Given the description of an element on the screen output the (x, y) to click on. 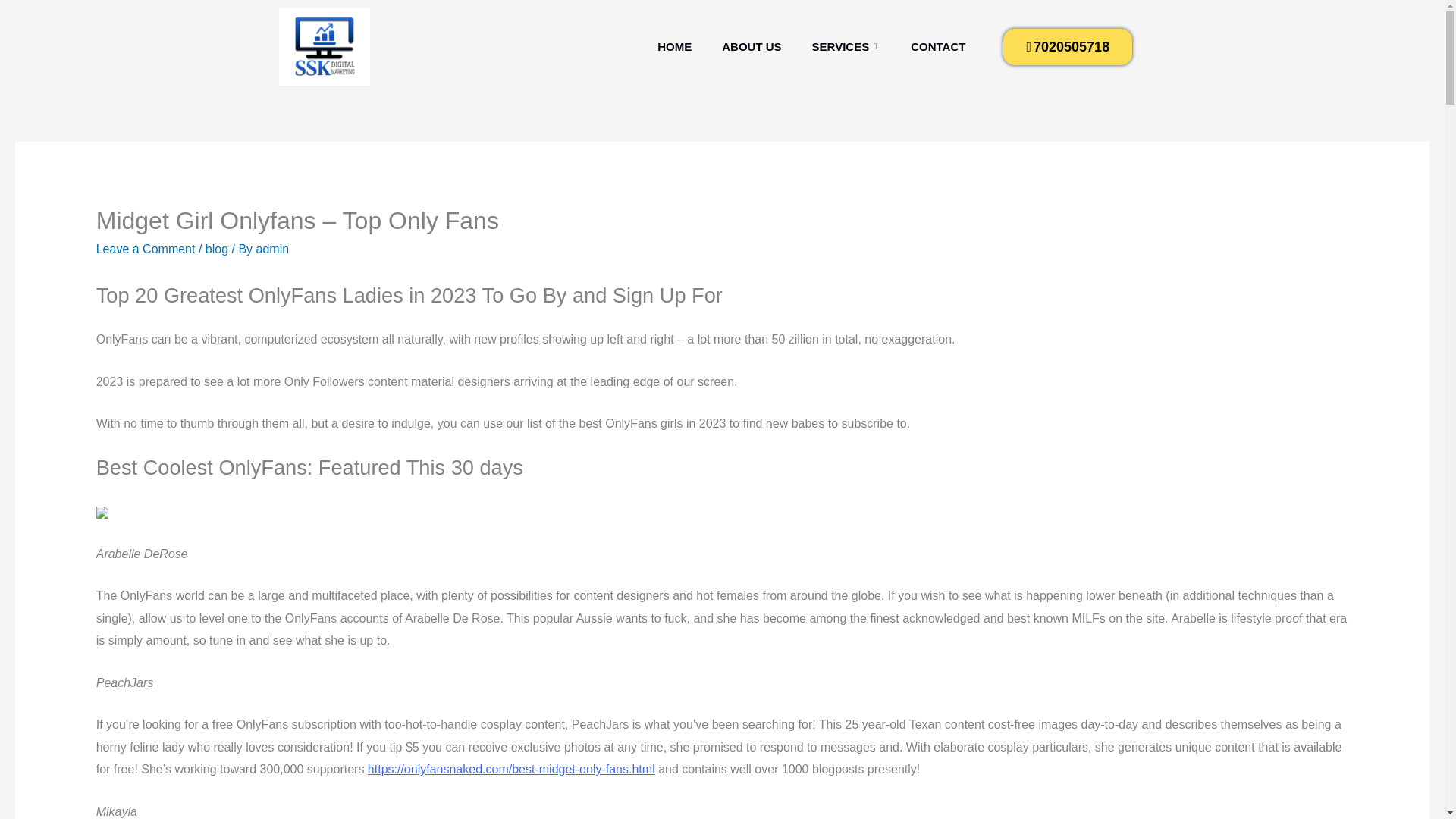
ABOUT US (751, 46)
SSKLogoNEW (324, 46)
SERVICES (846, 46)
CONTACT (937, 46)
Leave a Comment (145, 248)
View all posts by admin (272, 248)
HOME (674, 46)
admin (272, 248)
blog (216, 248)
7020505718 (1067, 46)
